Given the description of an element on the screen output the (x, y) to click on. 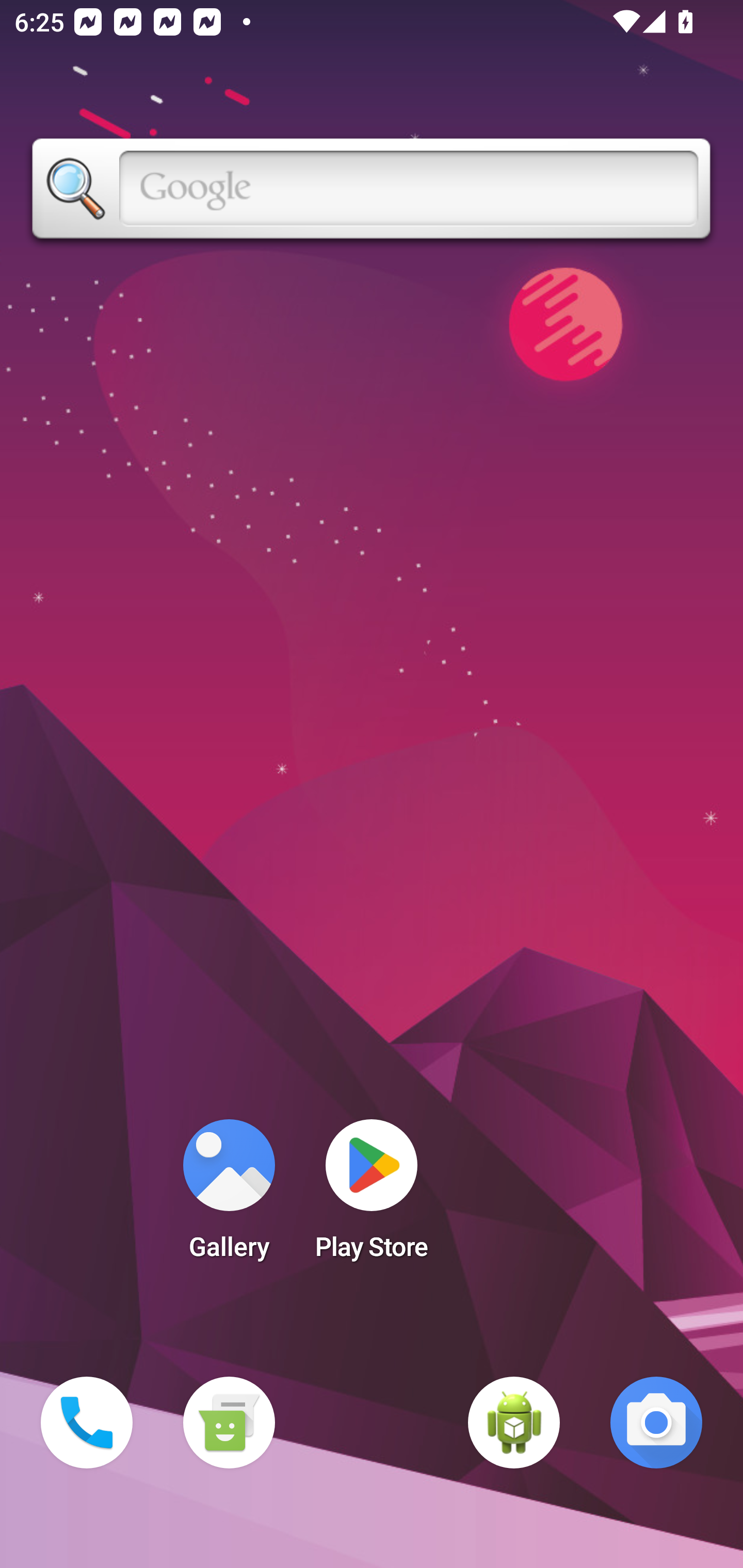
Gallery (228, 1195)
Play Store (371, 1195)
Phone (86, 1422)
Messaging (228, 1422)
WebView Browser Tester (513, 1422)
Camera (656, 1422)
